Given the description of an element on the screen output the (x, y) to click on. 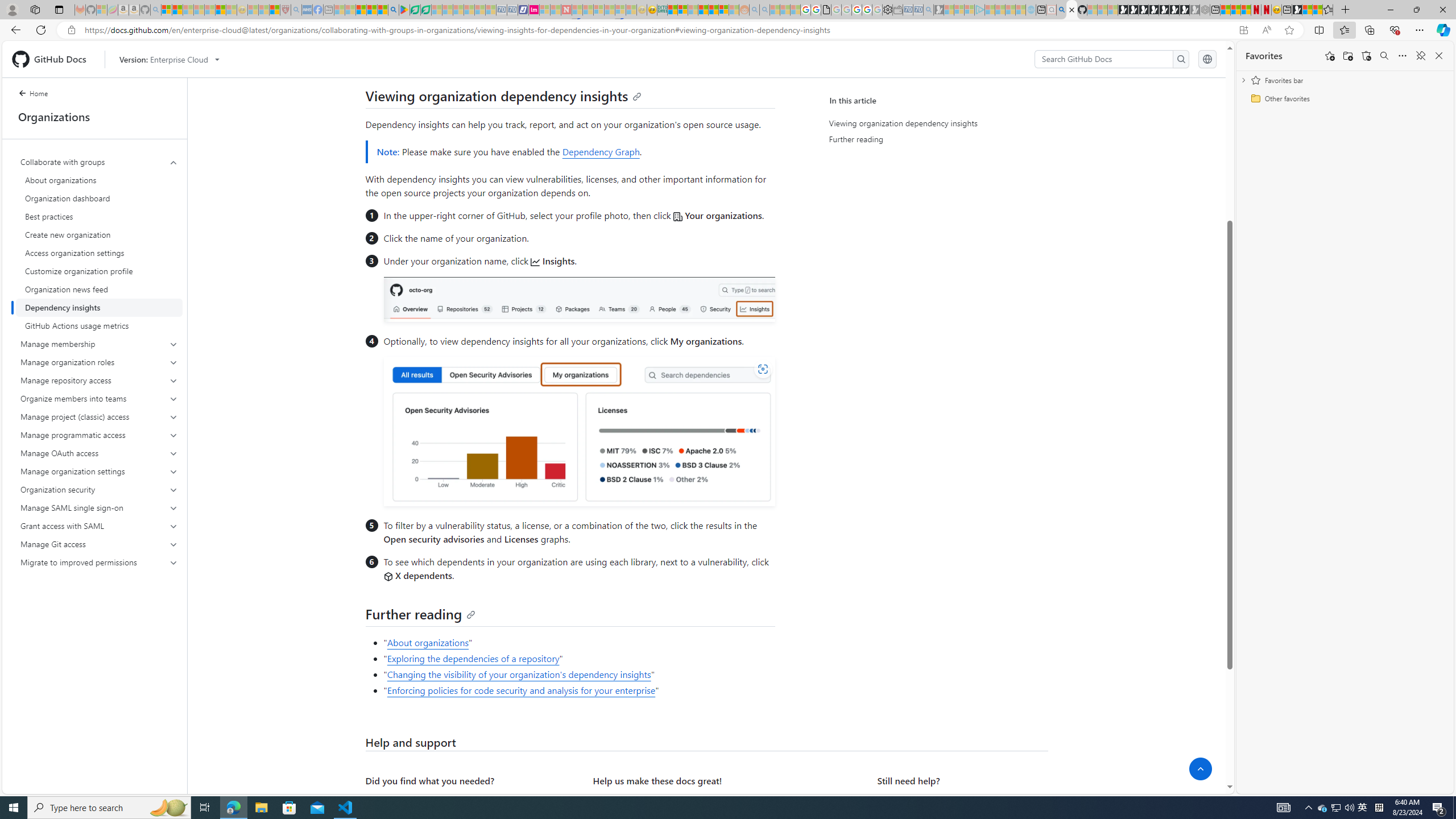
Manage organization roles (99, 361)
Dependency Graph (600, 151)
Manage SAML single sign-on (99, 507)
Collaborate with groups (99, 162)
